Given the description of an element on the screen output the (x, y) to click on. 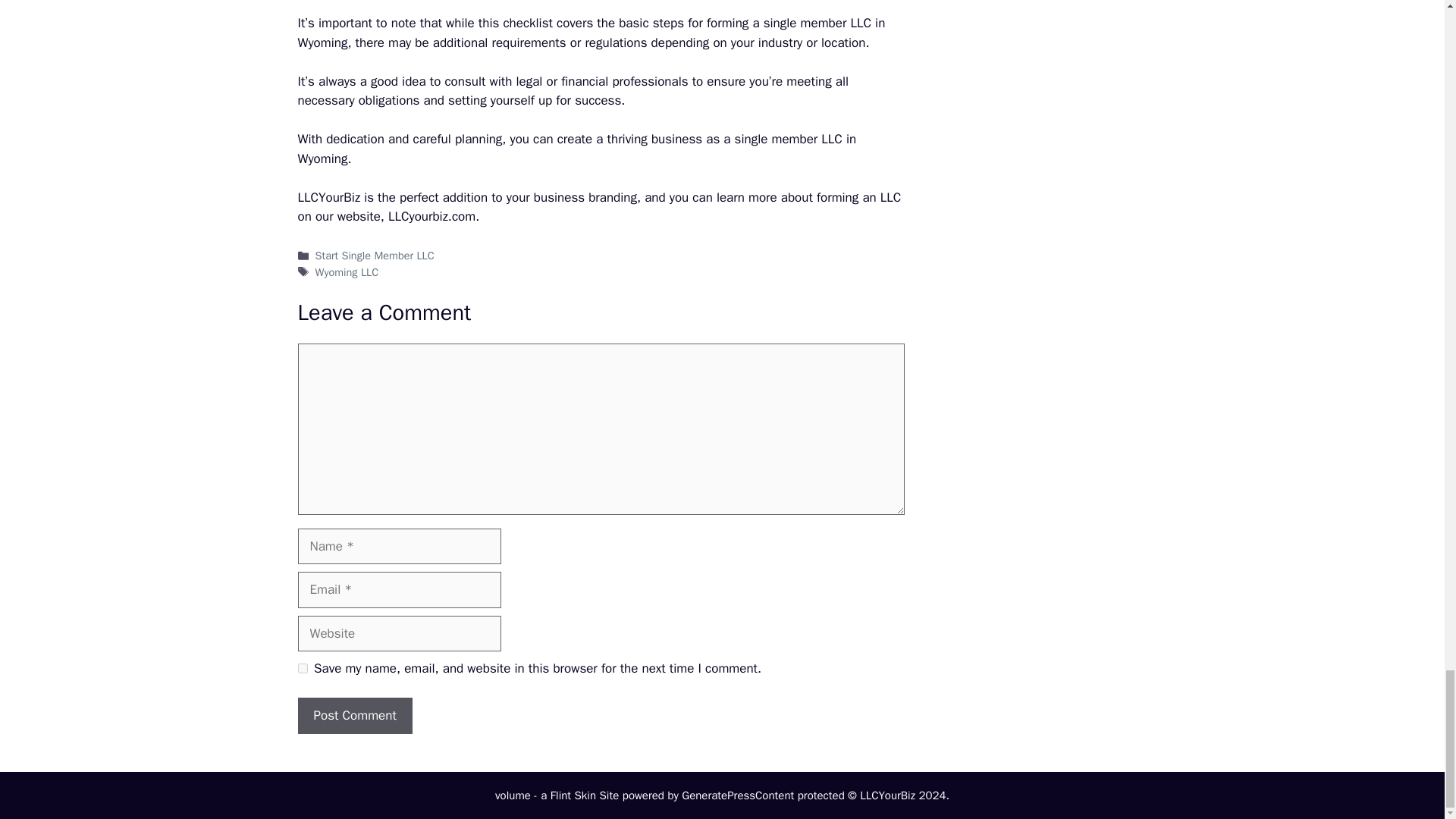
yes (302, 668)
Wyoming LLC (346, 272)
Post Comment (354, 715)
Post Comment (354, 715)
LLCYourBiz (328, 197)
Start Single Member LLC (374, 255)
LLCYourBiz (328, 197)
